Given the description of an element on the screen output the (x, y) to click on. 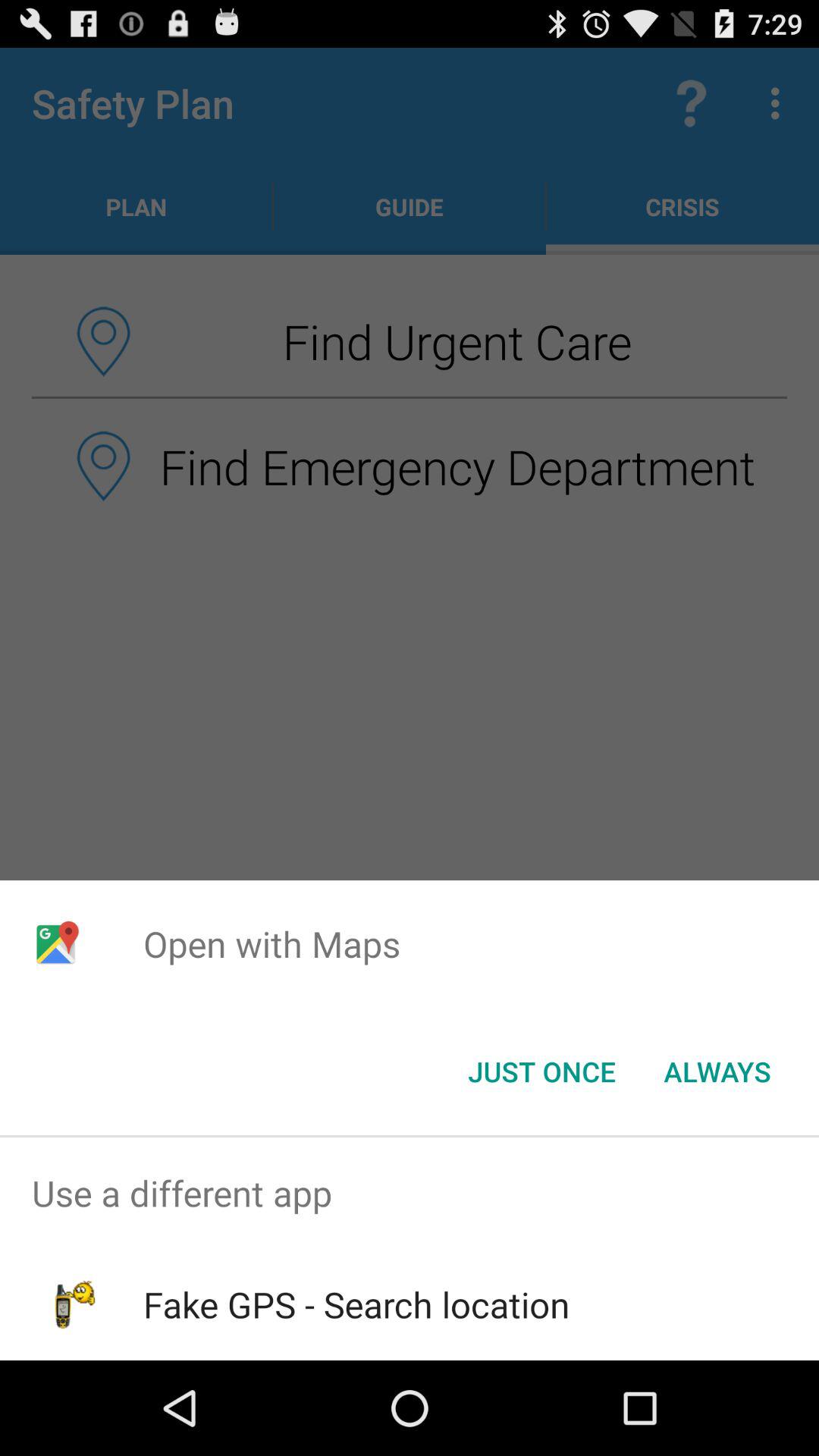
turn off item next to the just once (717, 1071)
